Given the description of an element on the screen output the (x, y) to click on. 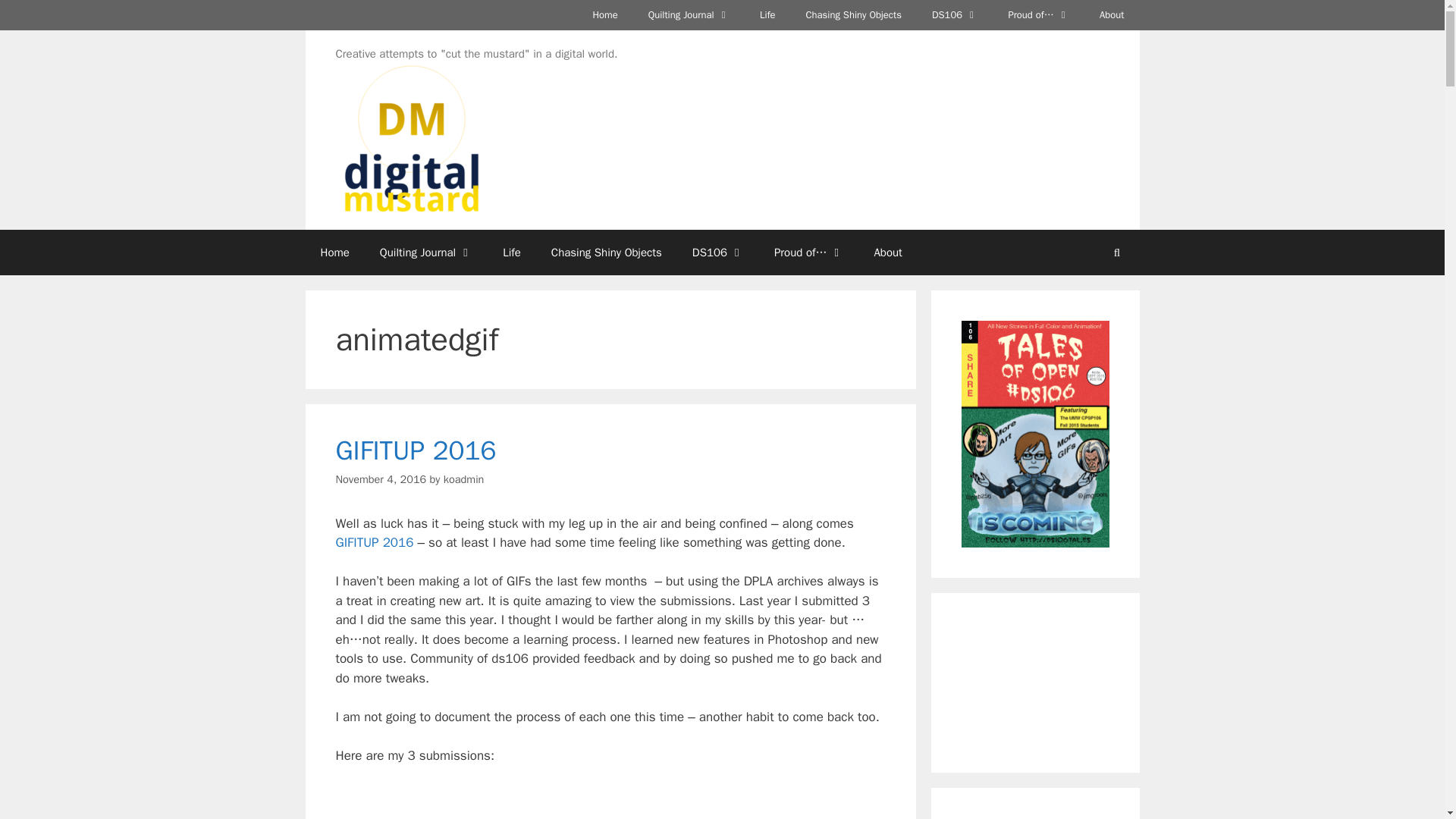
Quilting Journal (426, 251)
View all posts by koadmin (464, 479)
Life (511, 251)
Home (334, 251)
Chasing Shiny Objects (853, 15)
Life (767, 15)
DS106 (954, 15)
Home (603, 15)
About (1111, 15)
Quilting Journal (688, 15)
